Given the description of an element on the screen output the (x, y) to click on. 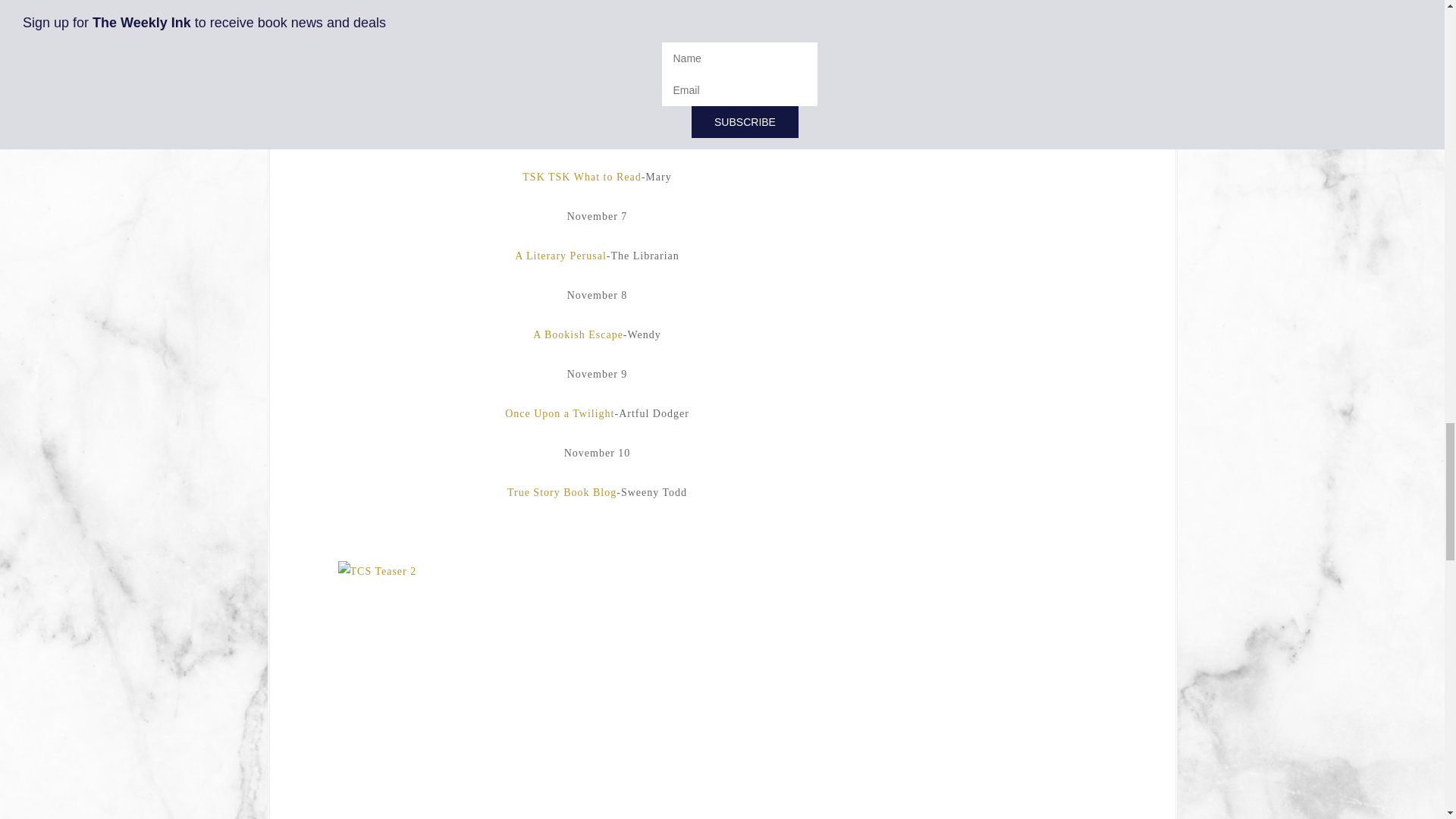
Paperbook Princess (543, 19)
